Given the description of an element on the screen output the (x, y) to click on. 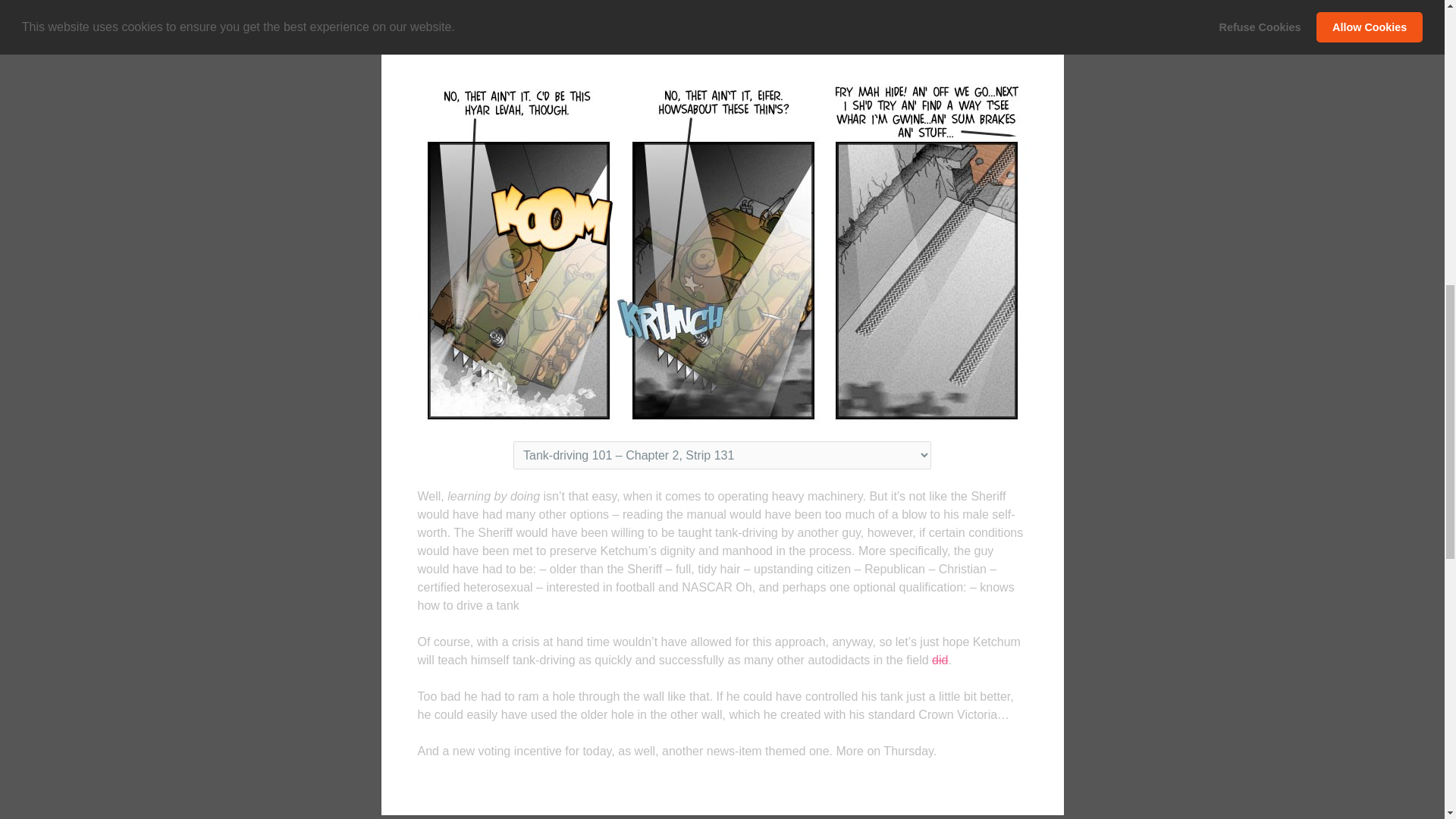
did (939, 659)
